Given the description of an element on the screen output the (x, y) to click on. 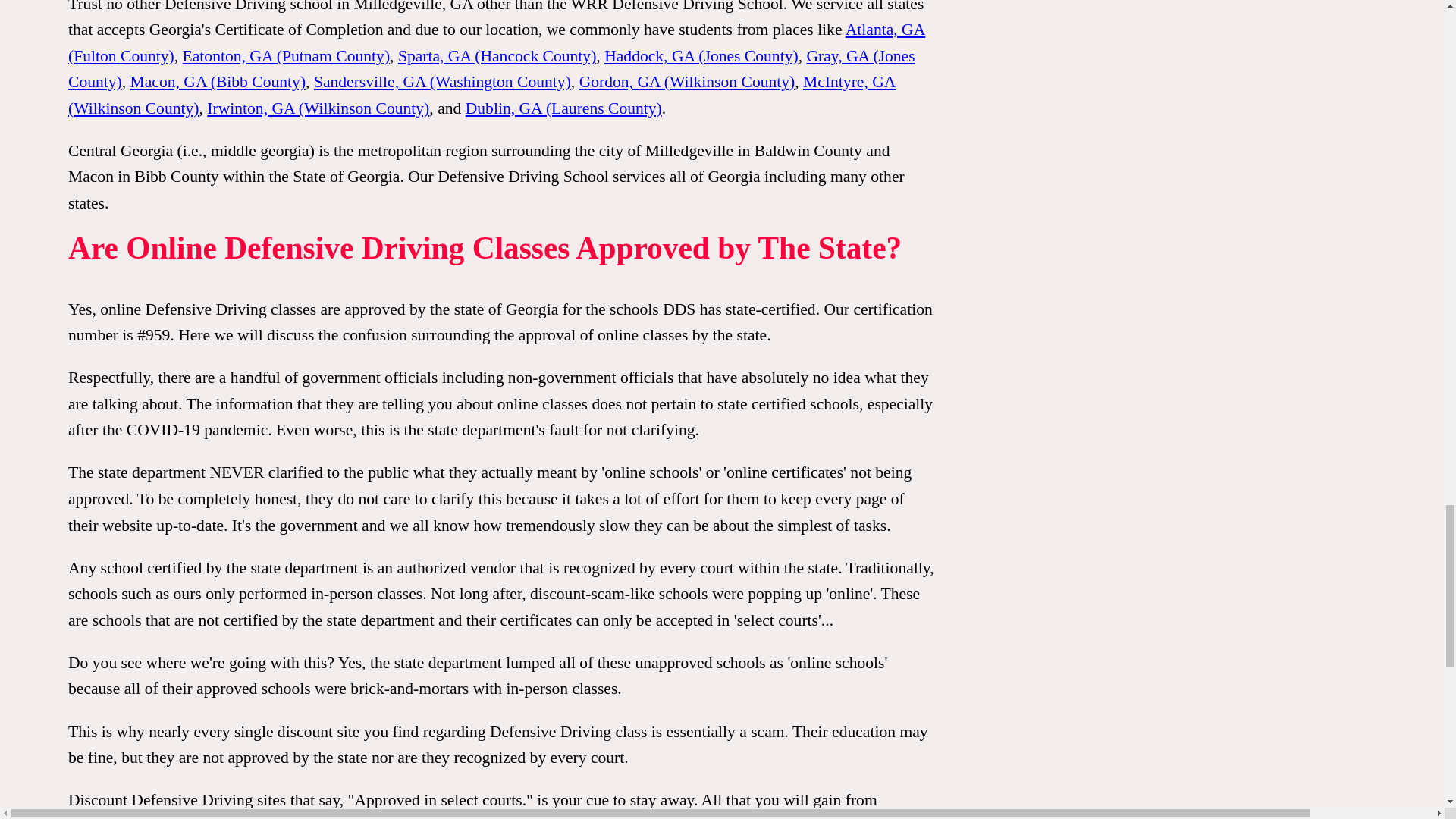
Defensive Driving School (523, 176)
middle georgia (259, 150)
Middle Georgia Defensive Driving School (259, 150)
Central Georgia Defensive Driving School (120, 150)
Middle Georgia Defensive Driving School (523, 176)
Central Georgia (120, 150)
